Given the description of an element on the screen output the (x, y) to click on. 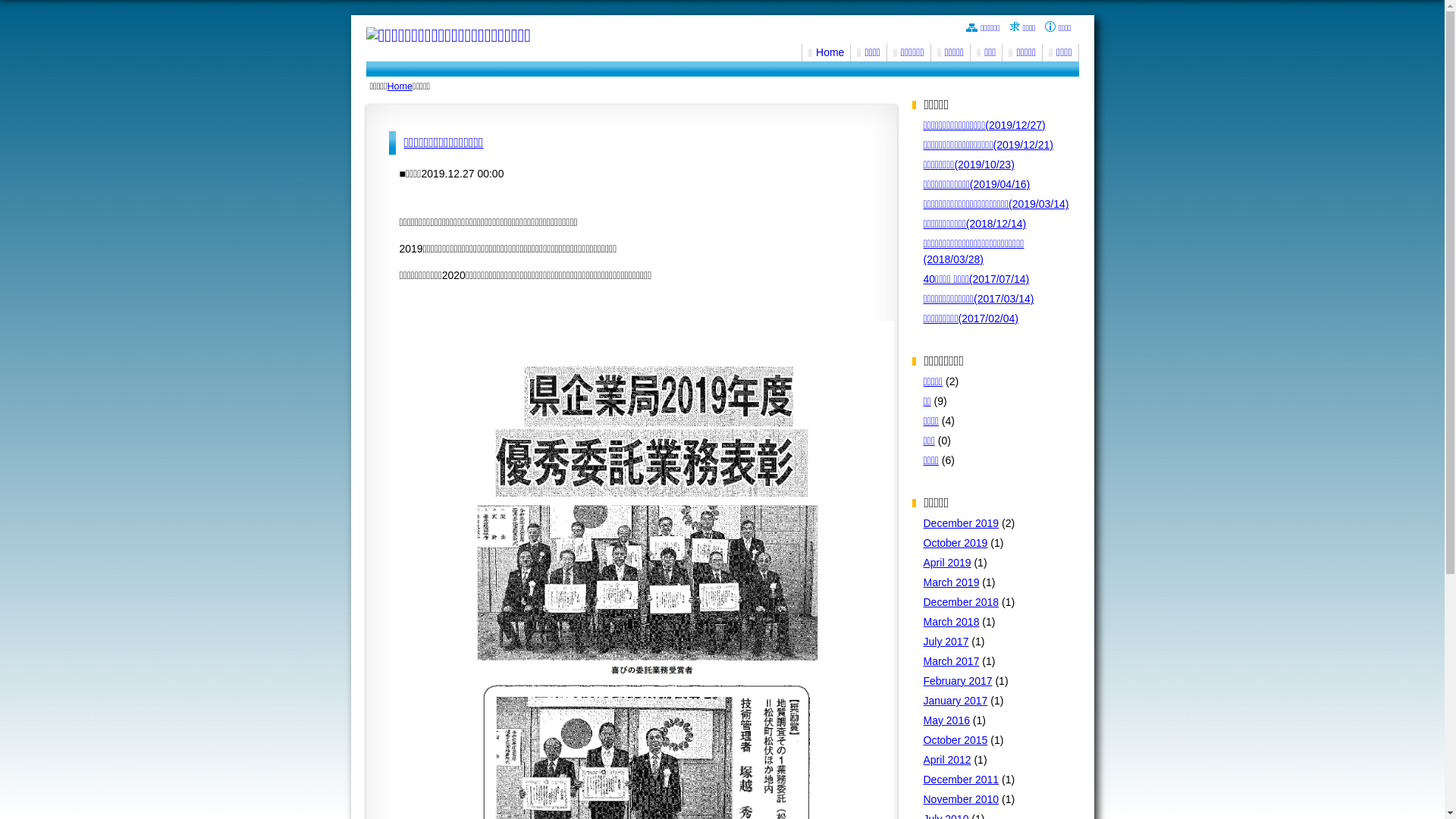
March 2017 Element type: text (951, 661)
March 2018 Element type: text (951, 621)
March 2019 Element type: text (951, 582)
May 2016 Element type: text (946, 720)
Home Element type: text (399, 86)
December 2011 Element type: text (961, 779)
Home Element type: text (826, 52)
December 2018 Element type: text (961, 602)
October 2019 Element type: text (955, 542)
November 2010 Element type: text (961, 799)
July 2017 Element type: text (946, 641)
February 2017 Element type: text (957, 680)
December 2019 Element type: text (961, 523)
April 2012 Element type: text (947, 759)
October 2015 Element type: text (955, 740)
April 2019 Element type: text (947, 562)
January 2017 Element type: text (955, 700)
